Given the description of an element on the screen output the (x, y) to click on. 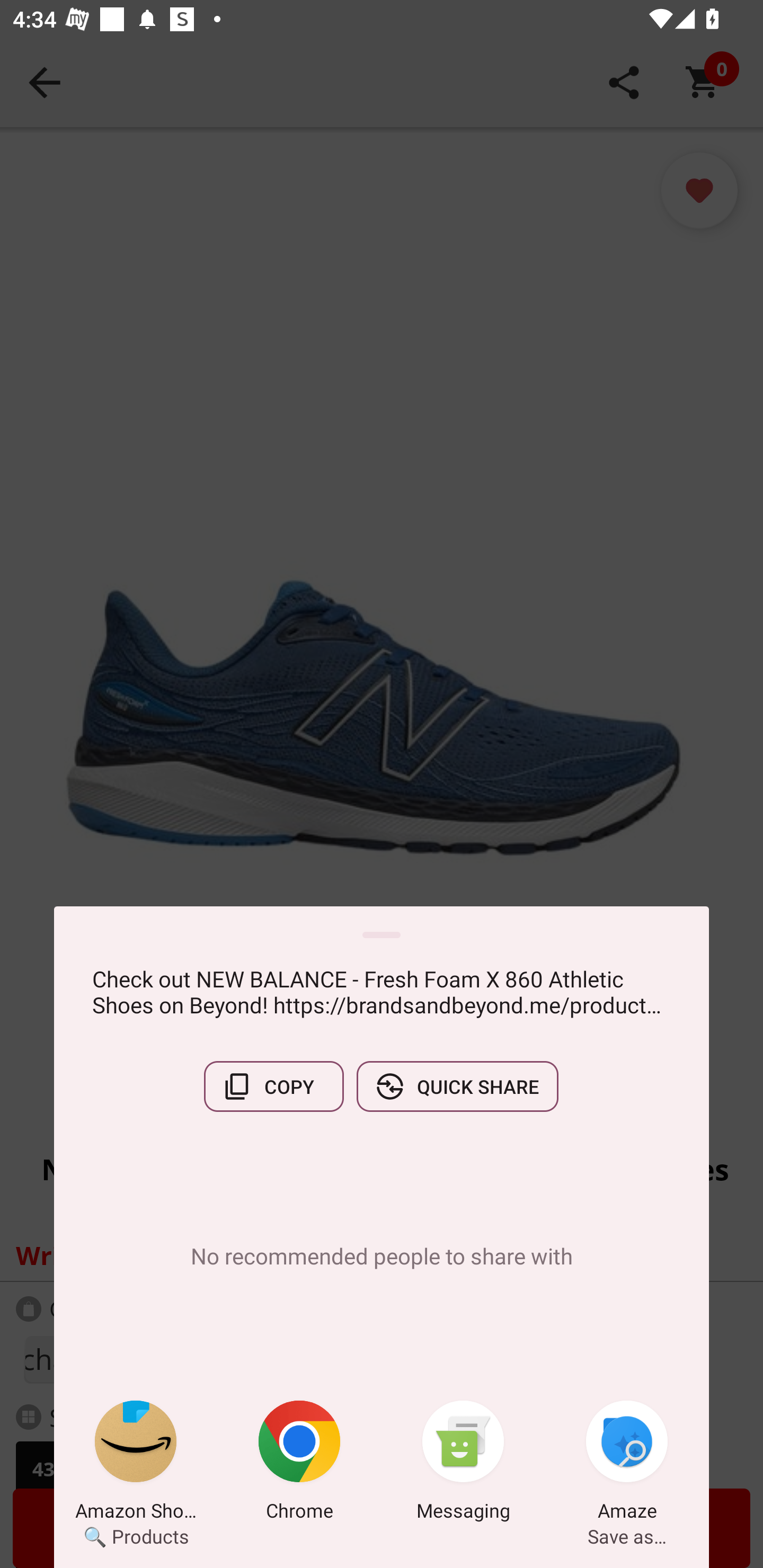
COPY (273, 1086)
QUICK SHARE (457, 1086)
Amazon Shopping 🔍 Products (135, 1463)
Chrome (299, 1463)
Messaging (463, 1463)
Amaze Save as… (626, 1463)
